Given the description of an element on the screen output the (x, y) to click on. 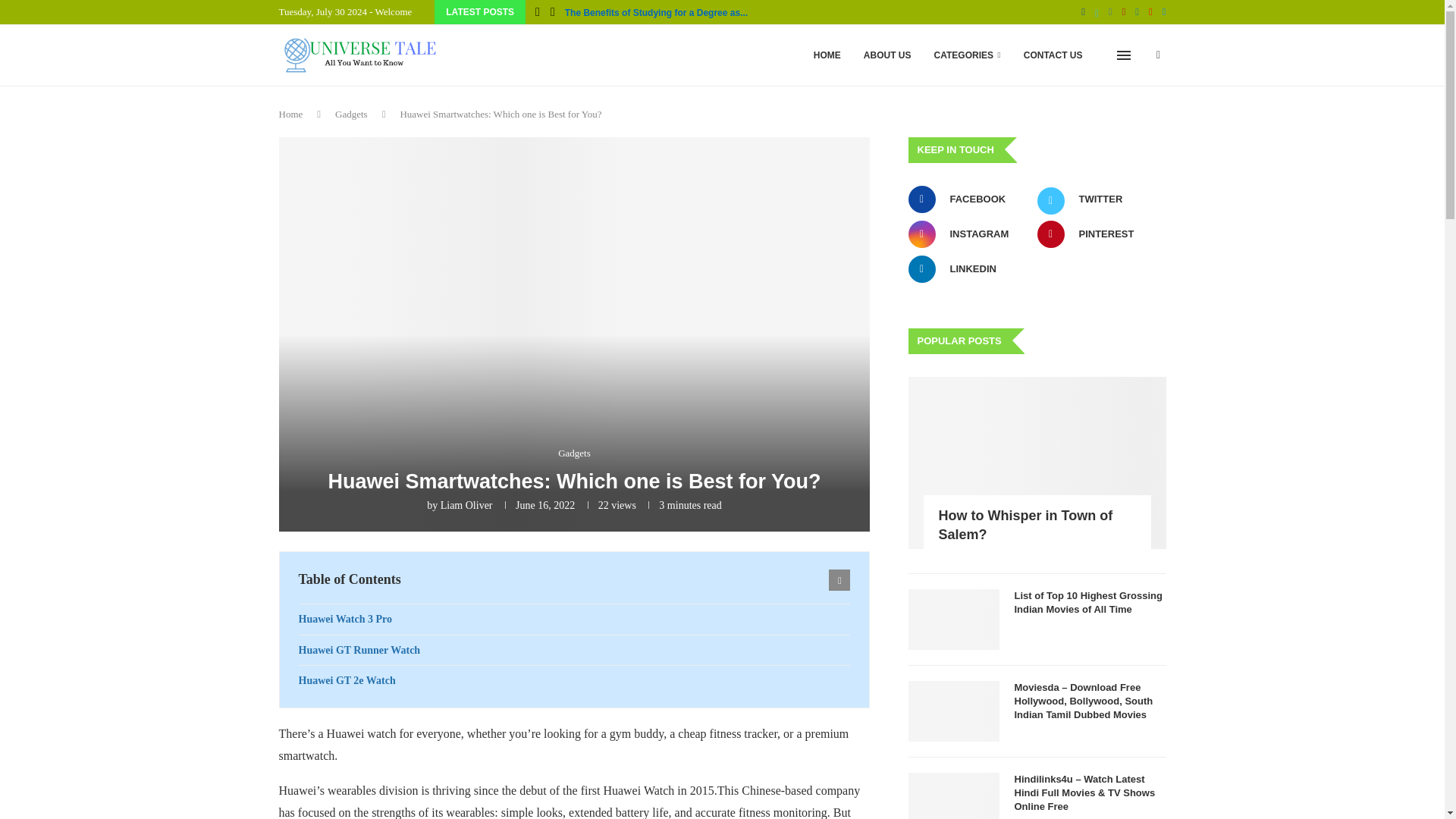
Huawei GT Runner Watch (574, 650)
The Benefits of Studying for a Degree as... (656, 12)
Gadgets (351, 113)
Gadgets (574, 453)
Liam Oliver (467, 505)
How to Whisper in Town of Salem? (1037, 462)
CONTACT US (1053, 55)
Huawei GT 2e Watch (574, 680)
Home (290, 113)
Huawei Watch 3 Pro (574, 619)
CATEGORIES (967, 55)
Huawei GT Runner Watch (574, 650)
Huawei GT 2e Watch (574, 680)
Huawei Watch 3 Pro (574, 619)
